Given the description of an element on the screen output the (x, y) to click on. 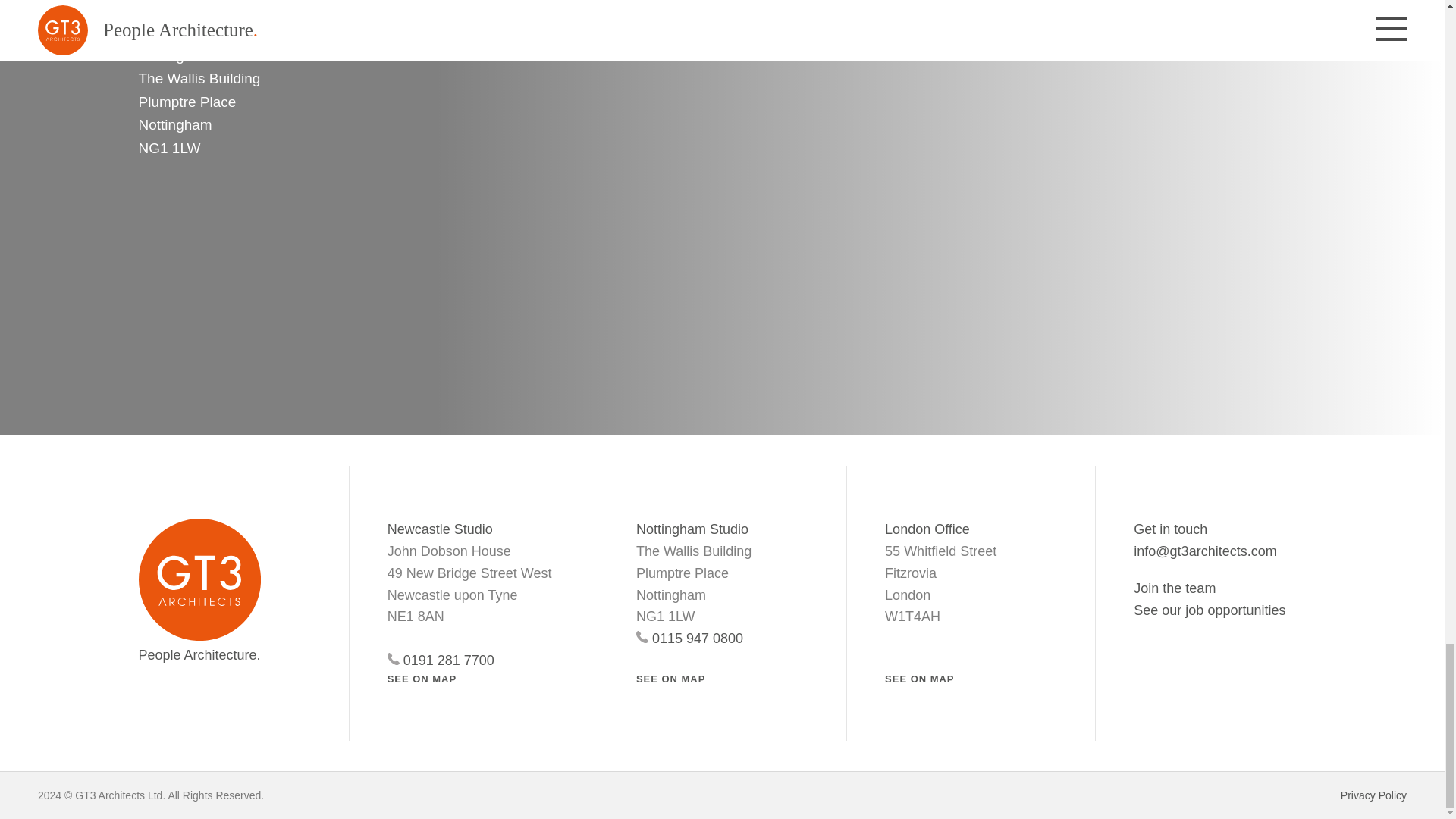
SEE ON MAP (670, 678)
Privacy Policy (1373, 795)
SEE ON MAP (919, 678)
SEE ON MAP (422, 678)
0191 281 7700 (473, 660)
0115 947 0800 (722, 639)
See our job opportunities (1209, 610)
